Given the description of an element on the screen output the (x, y) to click on. 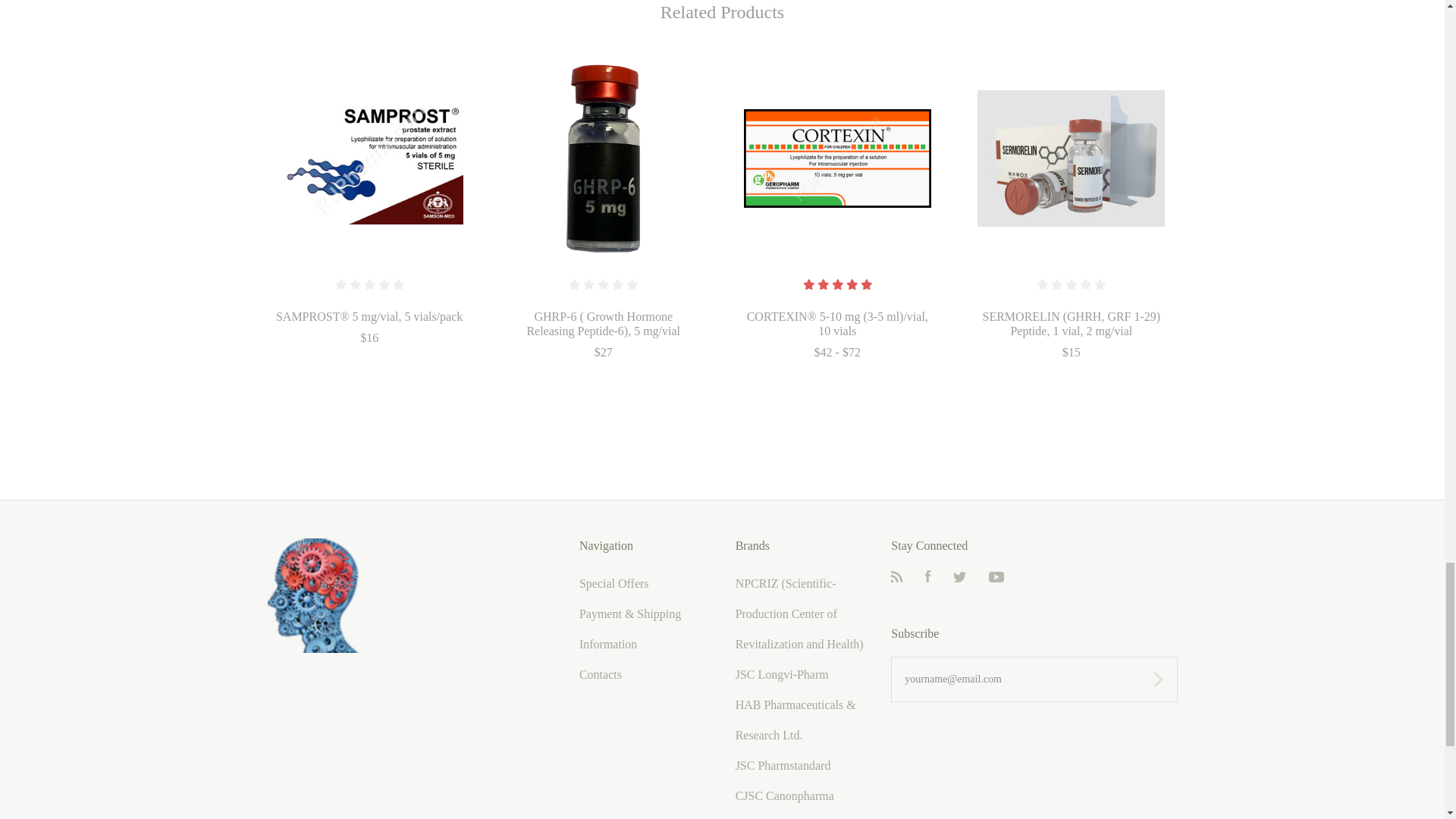
Samprost injections (369, 157)
GHRP-6 5 mg (603, 157)
Buy Sermorelin (1070, 157)
YouTube (996, 577)
CORTEXIN 5mg (837, 157)
Twitter (959, 577)
RSS (896, 577)
